Given the description of an element on the screen output the (x, y) to click on. 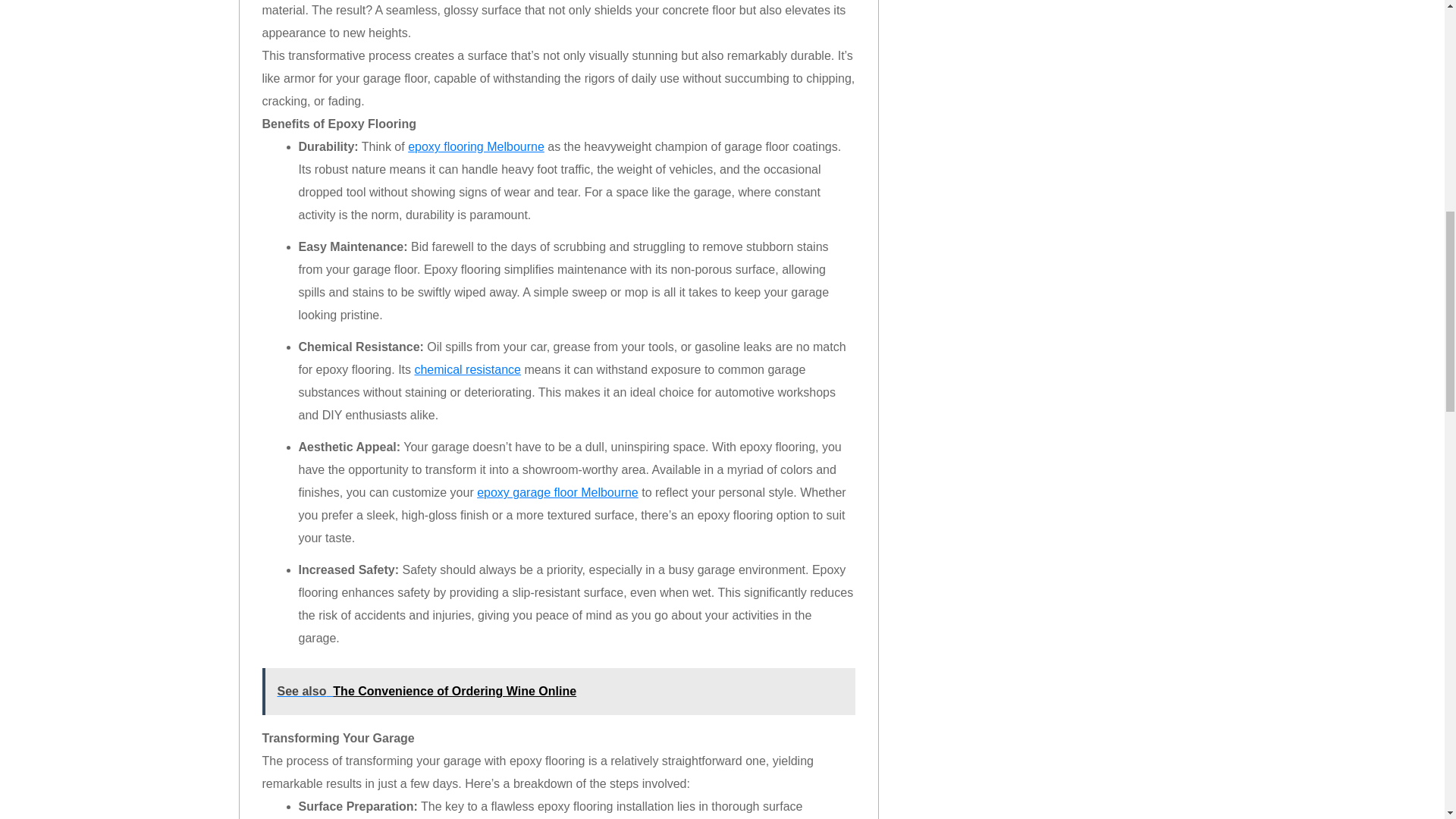
epoxy garage floor Melbourne (558, 492)
epoxy flooring Melbourne (475, 146)
chemical resistance (467, 369)
See also  The Convenience of Ordering Wine Online (559, 691)
